Given the description of an element on the screen output the (x, y) to click on. 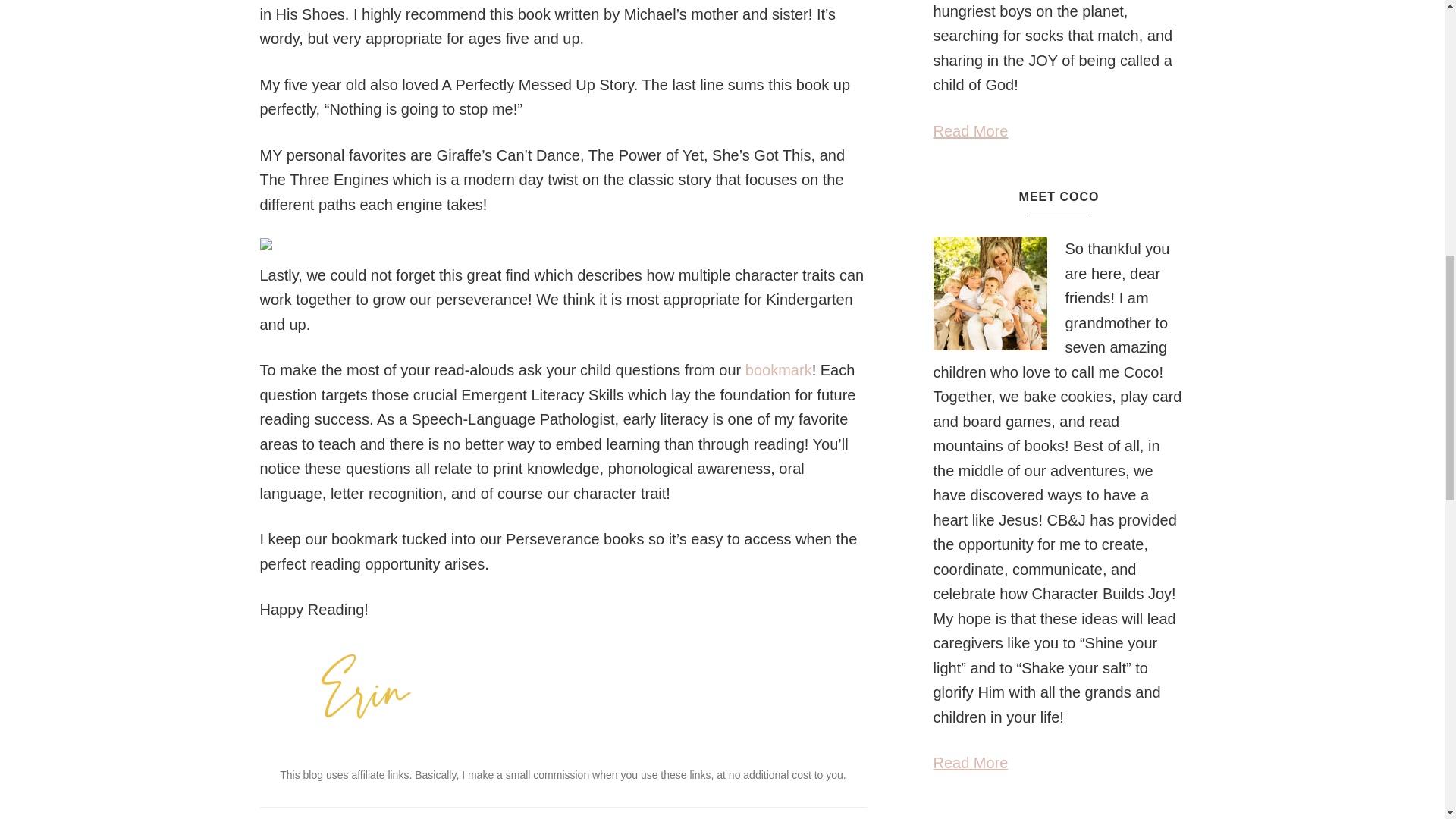
Read More (970, 130)
bookmark (778, 369)
Read More (970, 762)
